Given the description of an element on the screen output the (x, y) to click on. 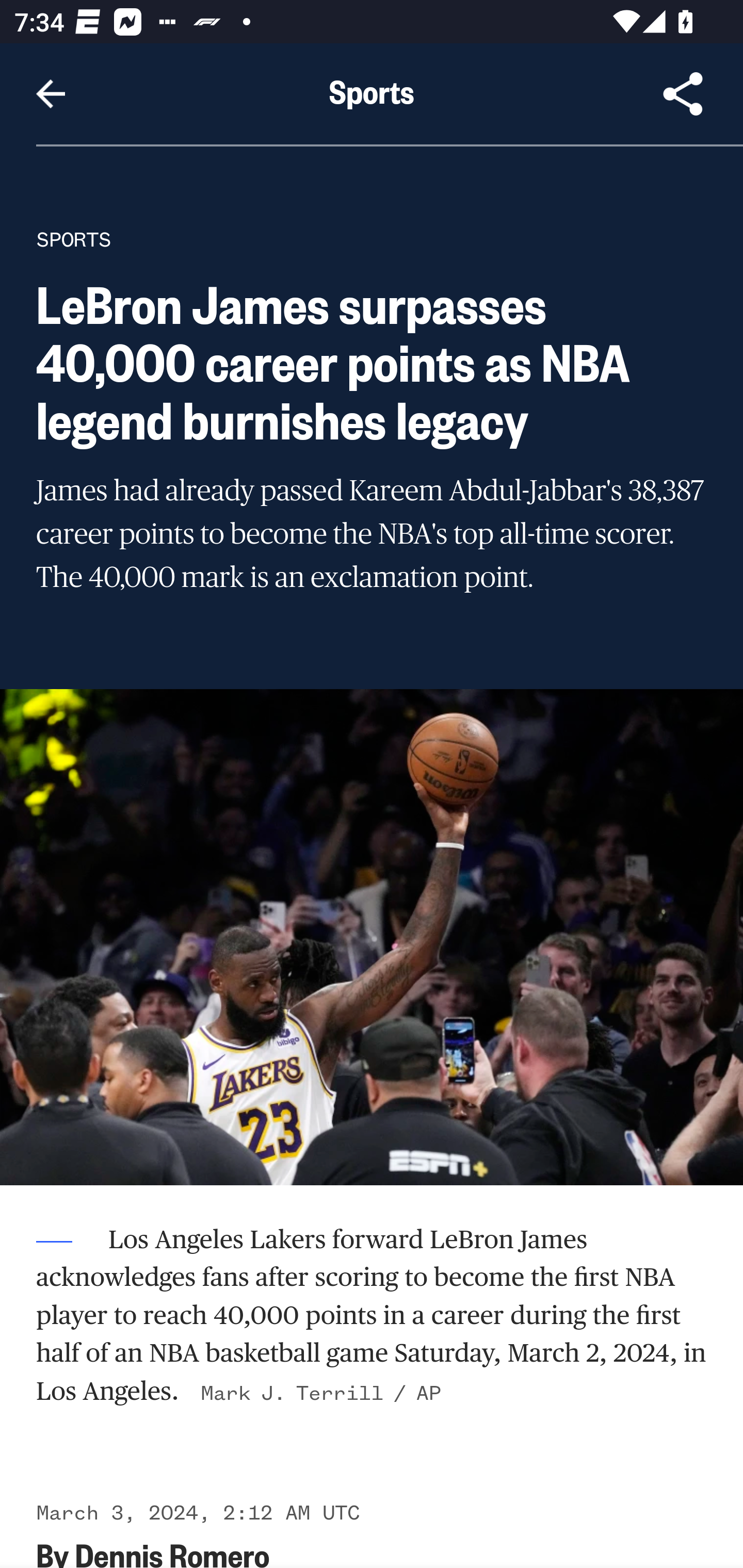
Navigate up (50, 93)
Share Article, button (683, 94)
SPORTS (74, 239)
